Given the description of an element on the screen output the (x, y) to click on. 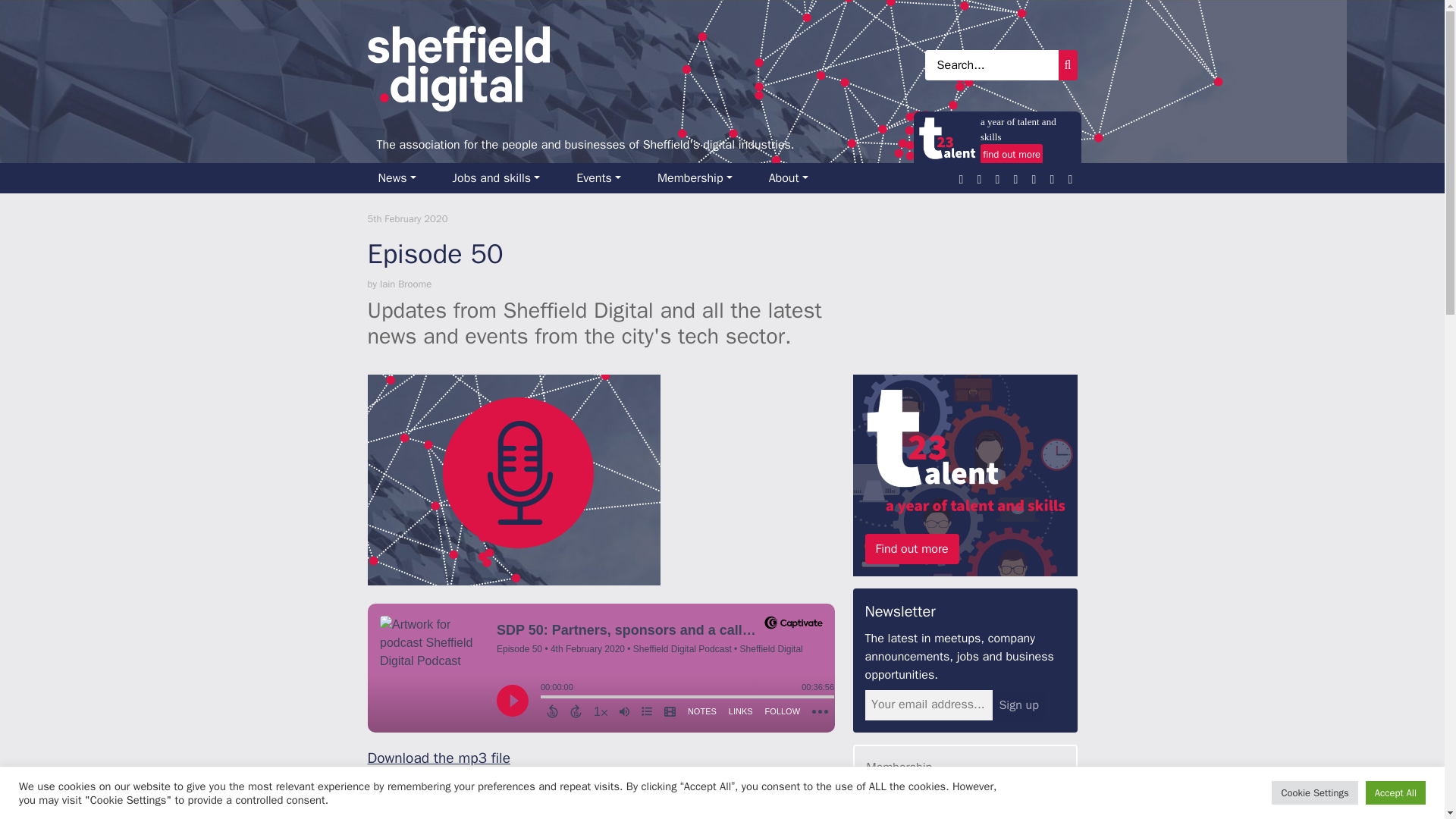
News (402, 177)
About (794, 177)
News (402, 177)
find out more (1010, 153)
Events (604, 177)
Membership (701, 177)
Subscribe in iTunes (429, 780)
Jobs and skills (502, 177)
Jobs and skills (502, 177)
Download the mp3 file (438, 758)
Events (604, 177)
find out more (1011, 154)
